Given the description of an element on the screen output the (x, y) to click on. 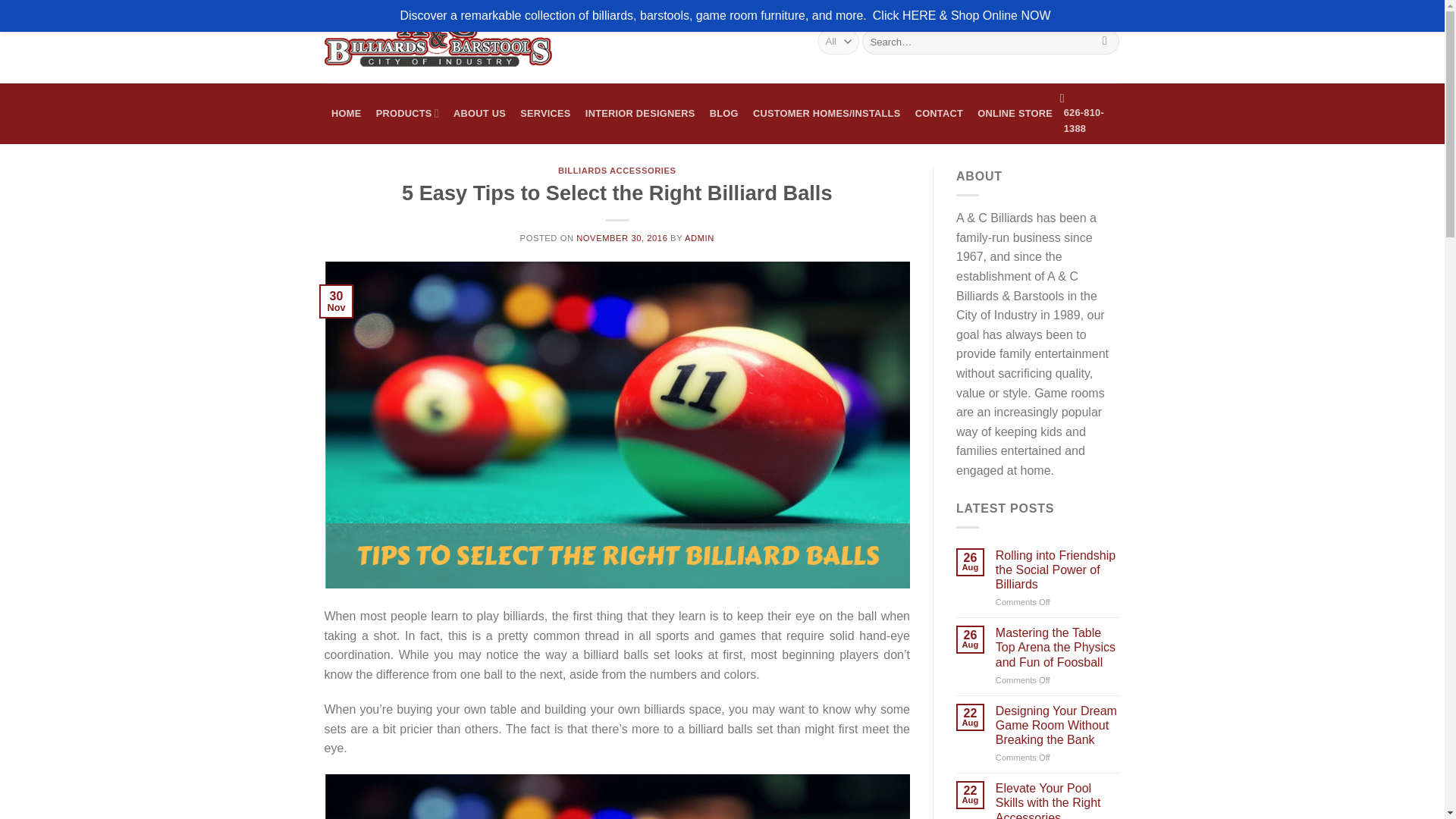
ADMIN (699, 237)
ONLINE STORE (1015, 113)
626-810-1388 (1090, 113)
PRODUCTS (406, 113)
626-810-1388 (1090, 113)
Rolling into Friendship the Social Power of Billiards (1058, 569)
ABOUT US (478, 113)
Search (1105, 41)
HOME (346, 113)
Billiard Balls (617, 796)
